Given the description of an element on the screen output the (x, y) to click on. 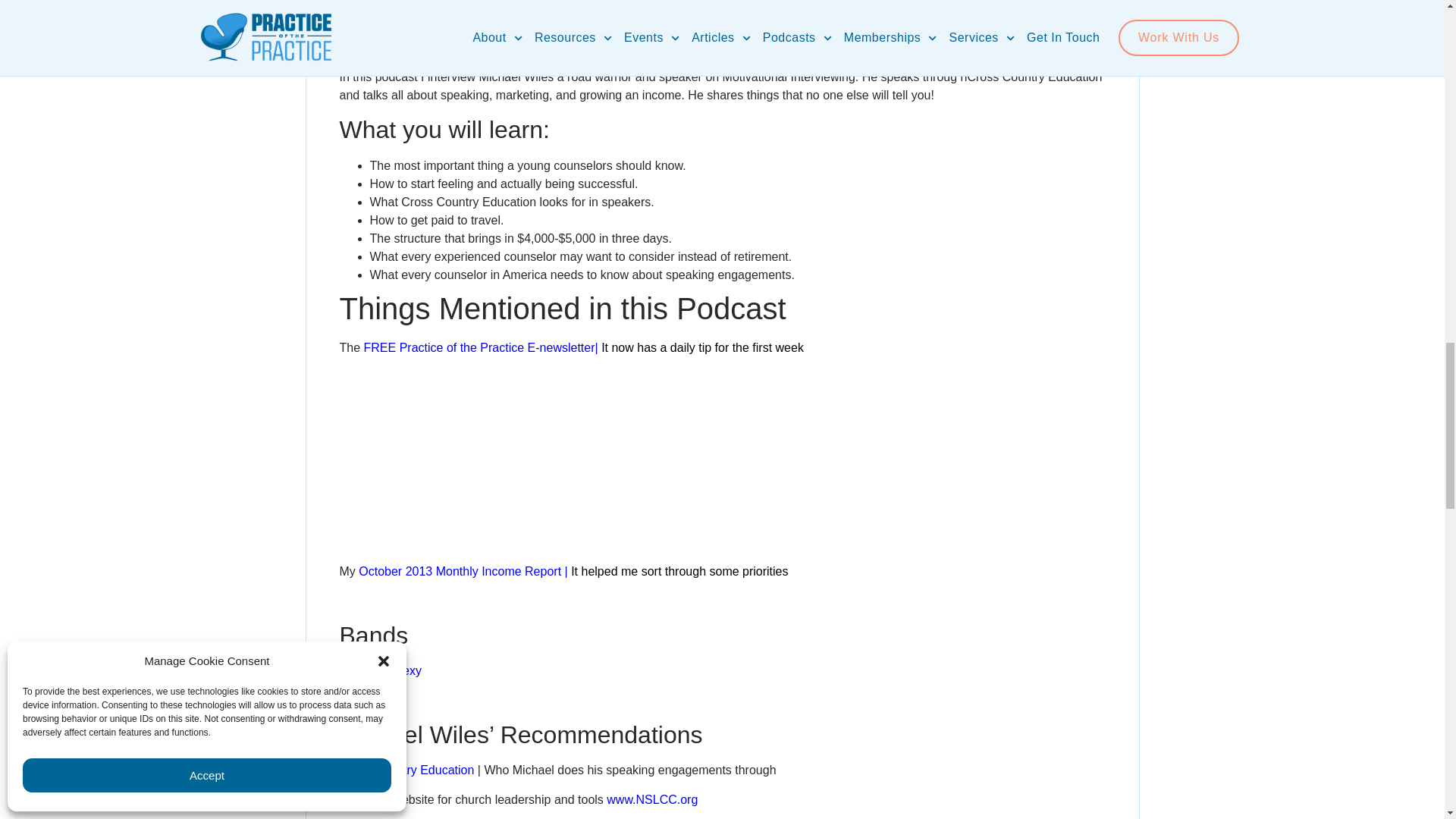
church leadership (653, 799)
counseling private practice tips (380, 670)
private practice (459, 571)
private practice (479, 347)
counseling private practice (406, 769)
private practice (368, 699)
